Given the description of an element on the screen output the (x, y) to click on. 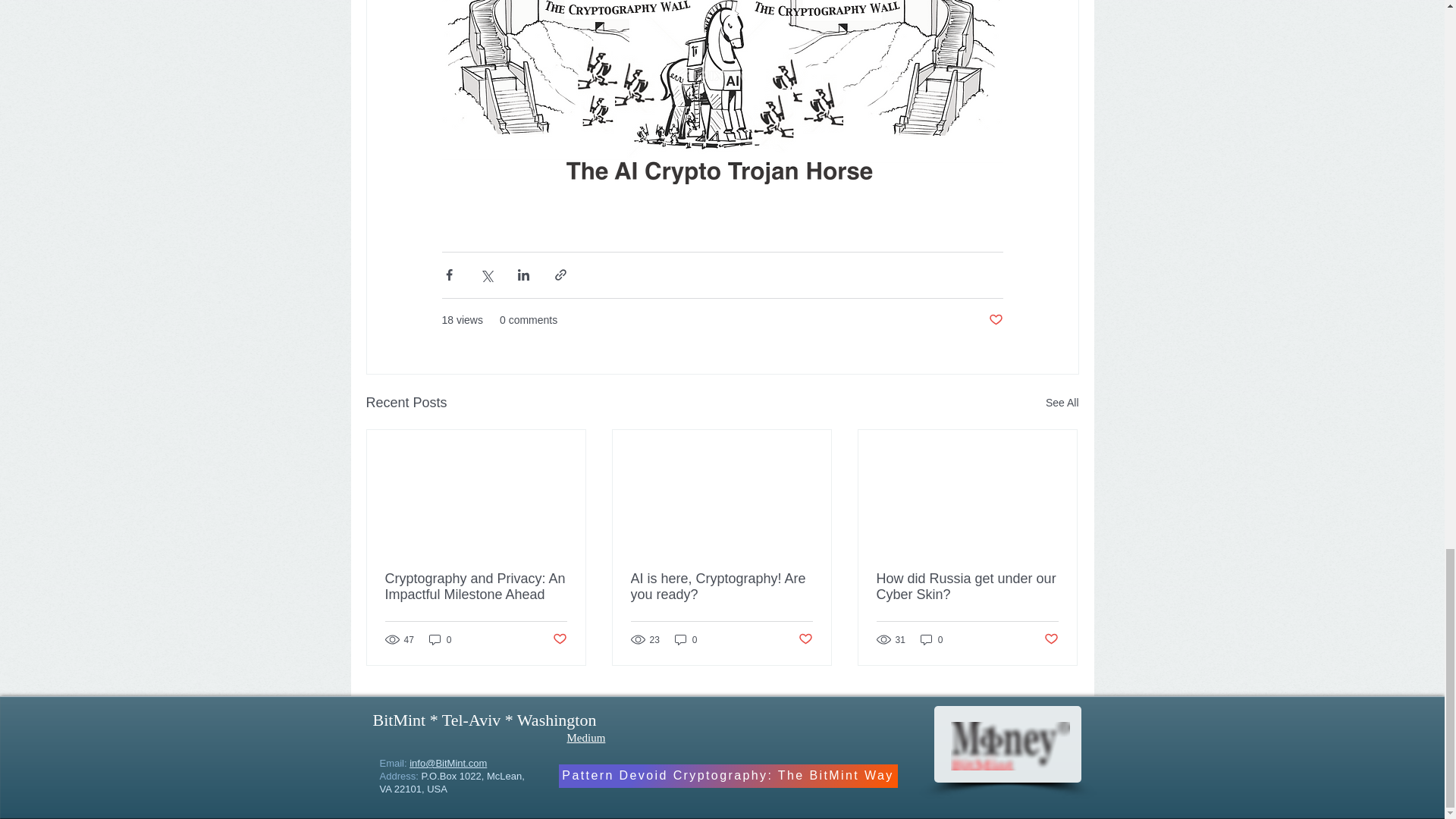
Post not marked as liked (558, 639)
Post not marked as liked (995, 320)
See All (1061, 403)
Cryptography and Privacy: An Impactful Milestone Ahead (476, 586)
0 (440, 639)
